Given the description of an element on the screen output the (x, y) to click on. 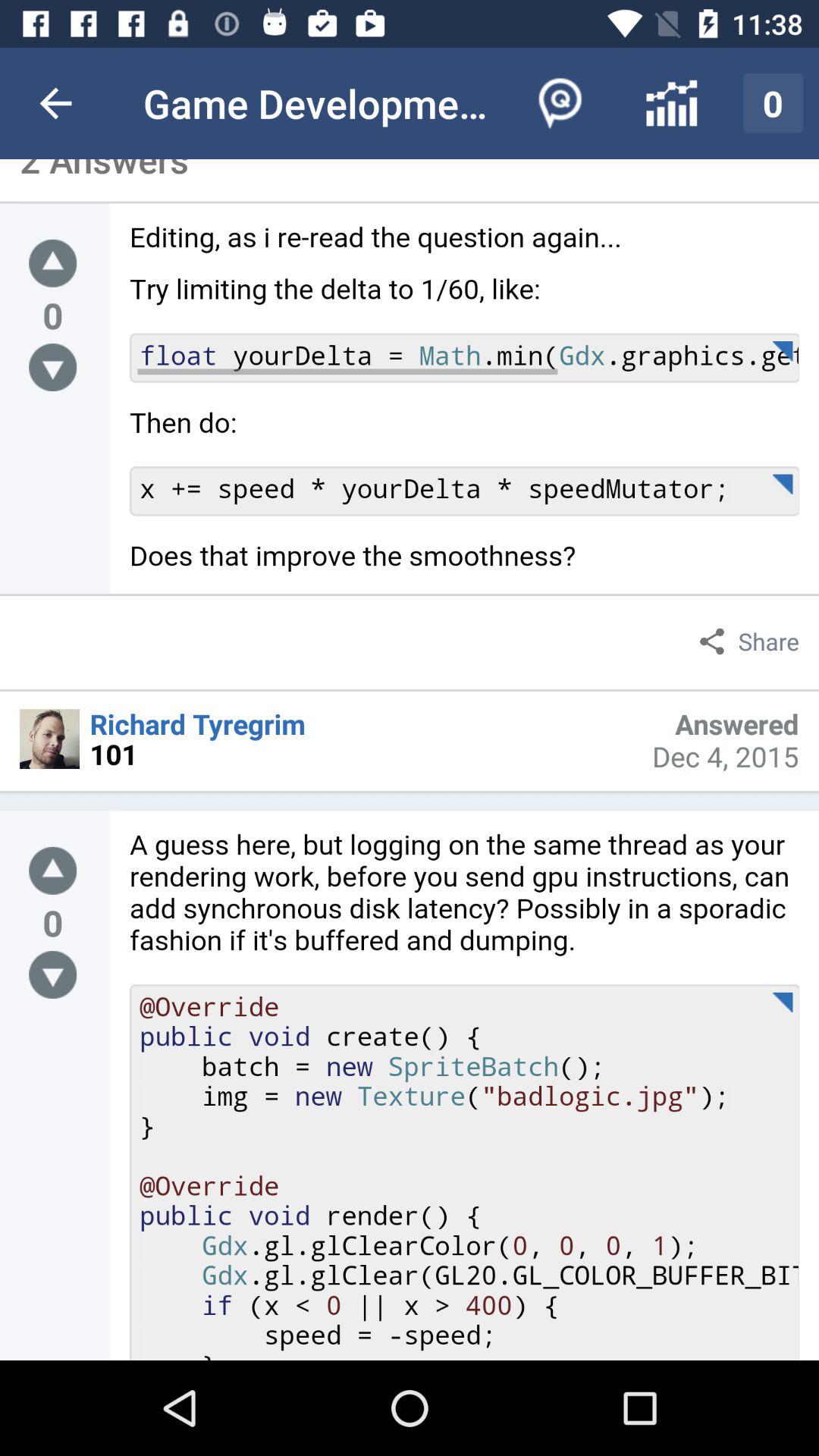
go up (52, 870)
